Given the description of an element on the screen output the (x, y) to click on. 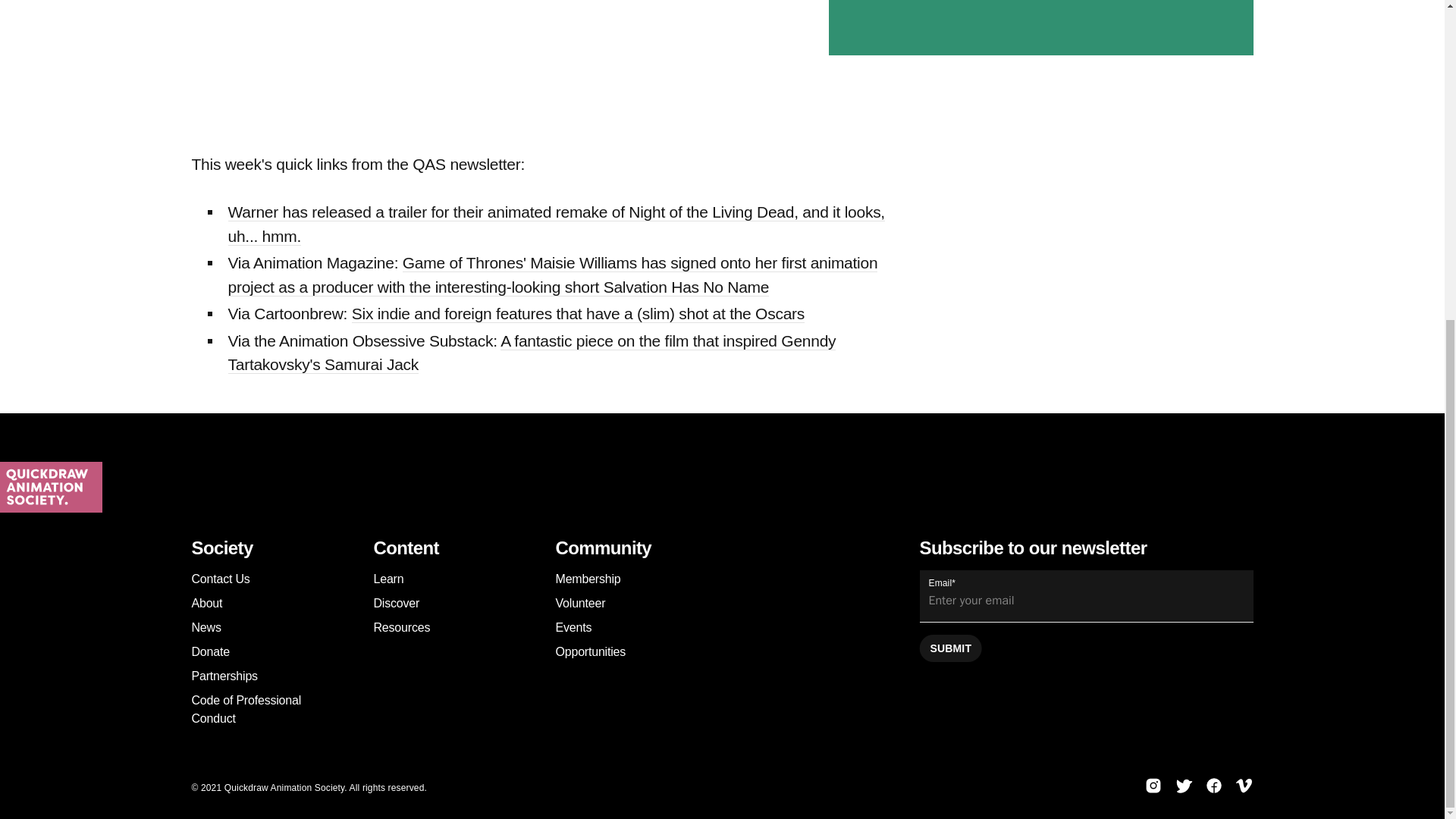
About (206, 603)
Contact Us (219, 578)
Opportunities (590, 651)
Discover (395, 603)
Volunteer (579, 603)
Membership (587, 578)
Donate (209, 651)
Learn (387, 578)
